Given the description of an element on the screen output the (x, y) to click on. 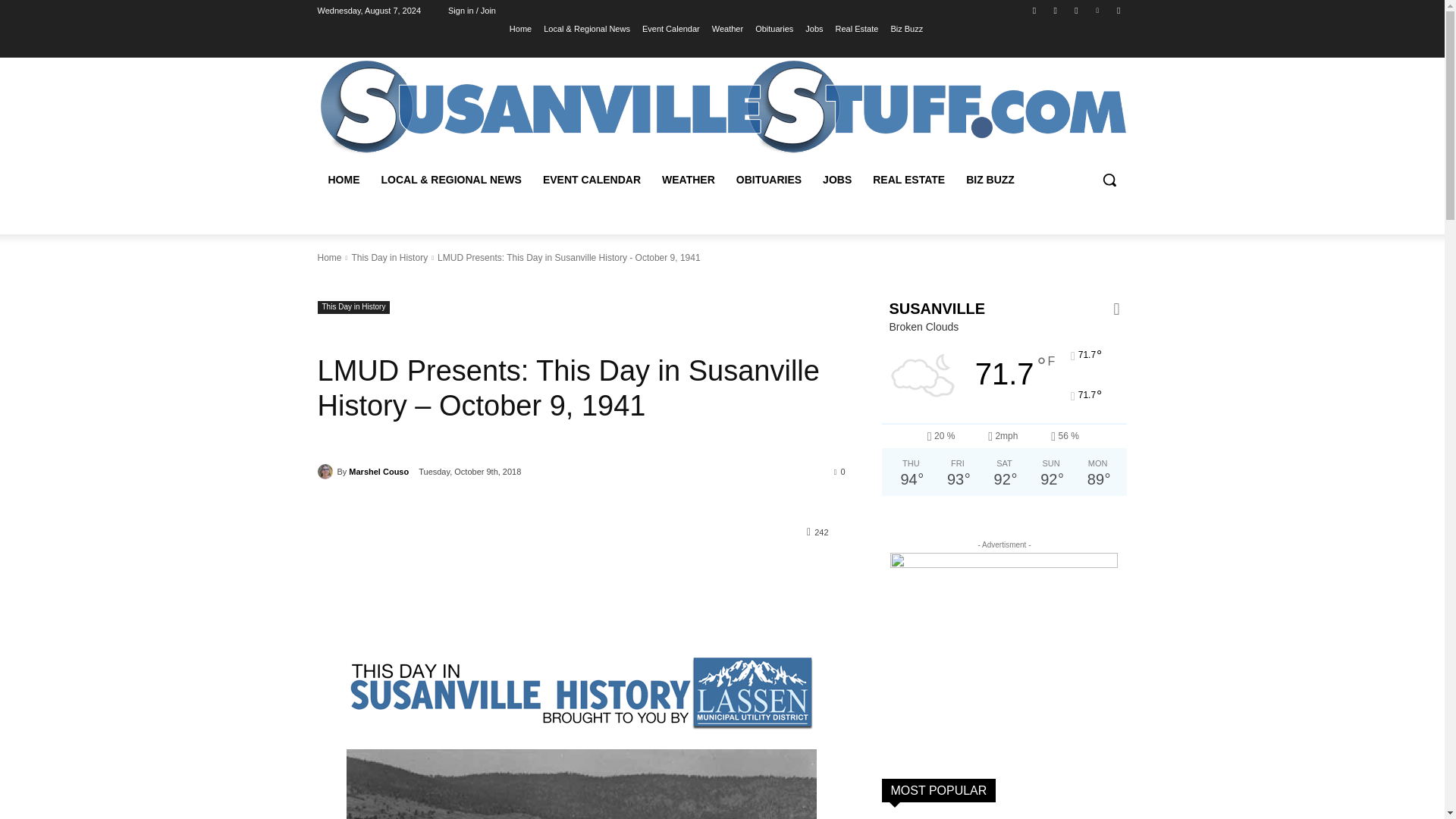
Real Estate (857, 28)
Vimeo (1097, 9)
Facebook (1034, 9)
Youtube (1117, 9)
REAL ESTATE (908, 179)
OBITUARIES (768, 179)
Event Calendar (671, 28)
Marshel Couso (326, 471)
EVENT CALENDAR (591, 179)
Twitter (1075, 9)
